Given the description of an element on the screen output the (x, y) to click on. 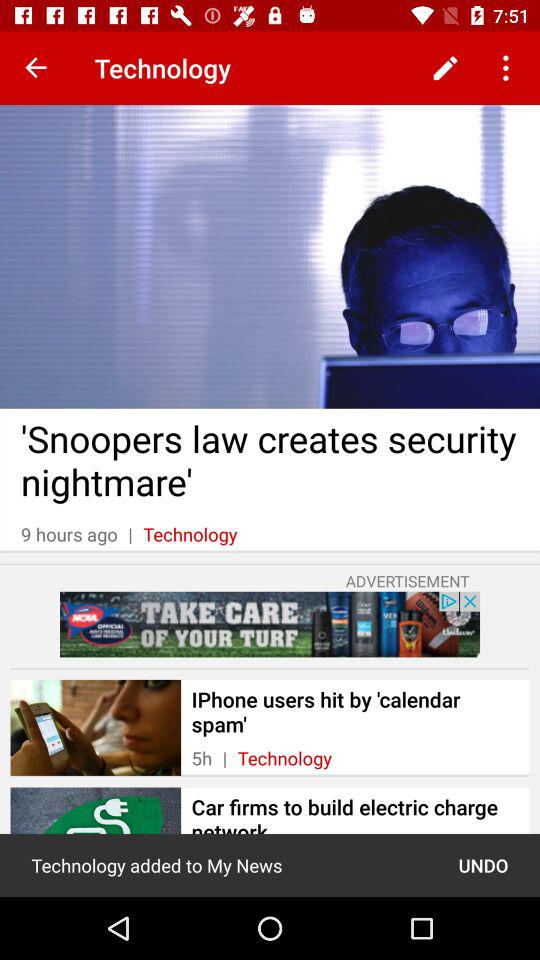
advertisement (270, 624)
